Given the description of an element on the screen output the (x, y) to click on. 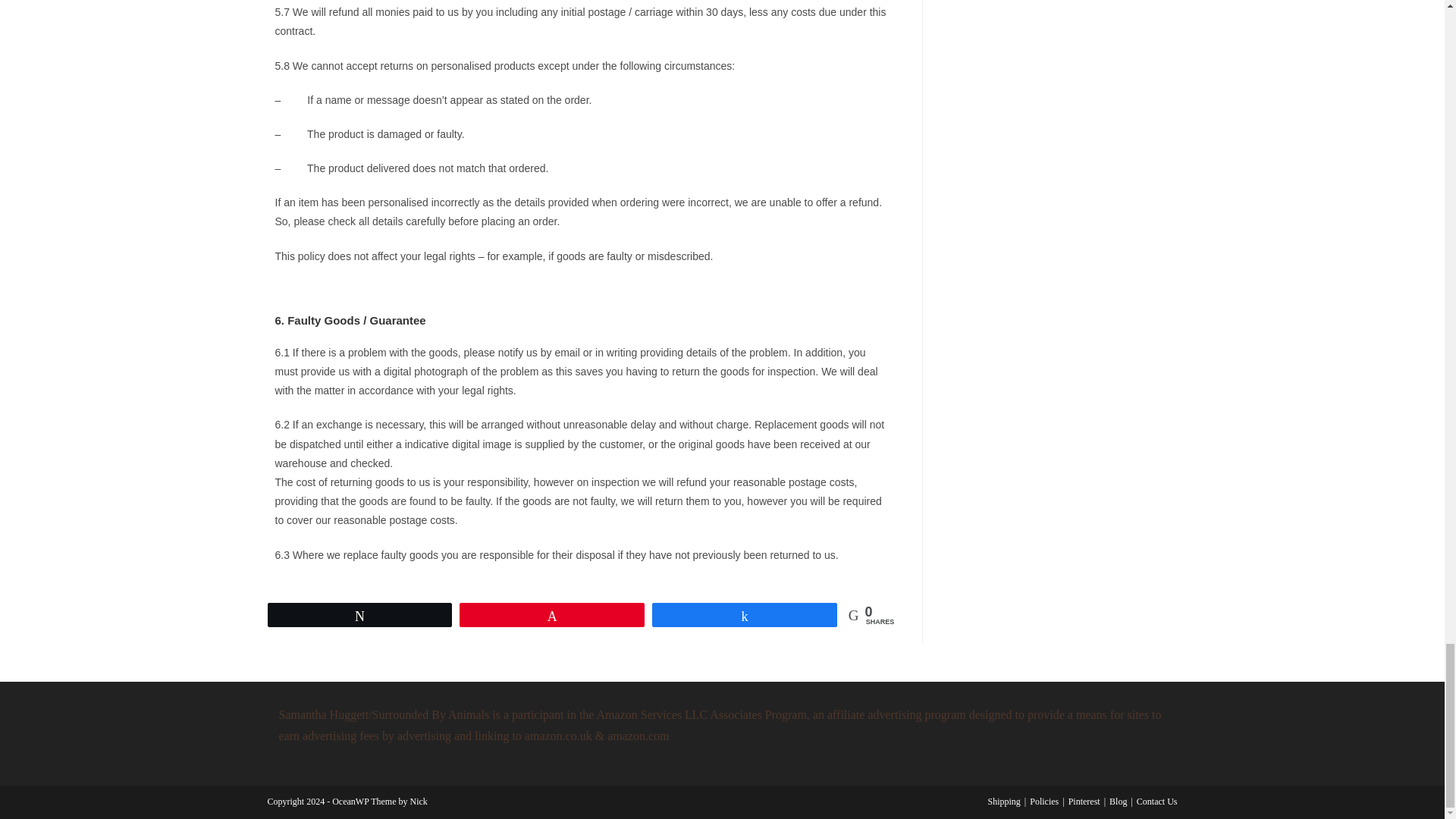
Contact Us (1157, 801)
Blog (1117, 801)
Pinterest (1084, 801)
Shipping (1004, 801)
Policies (1043, 801)
